Given the description of an element on the screen output the (x, y) to click on. 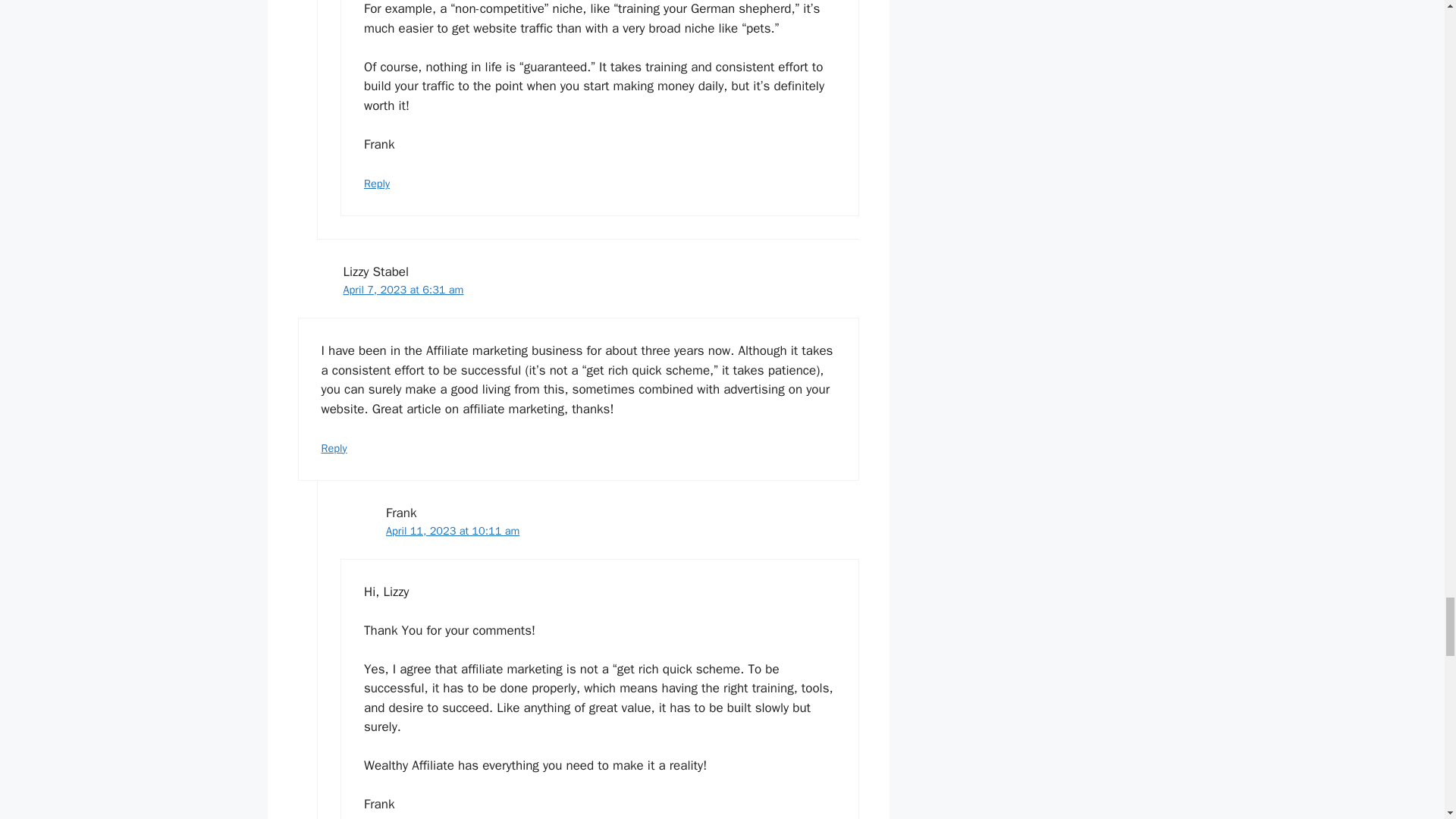
April 7, 2023 at 6:31 am (402, 289)
April 11, 2023 at 10:11 am (452, 530)
Reply (377, 183)
Reply (334, 448)
